Given the description of an element on the screen output the (x, y) to click on. 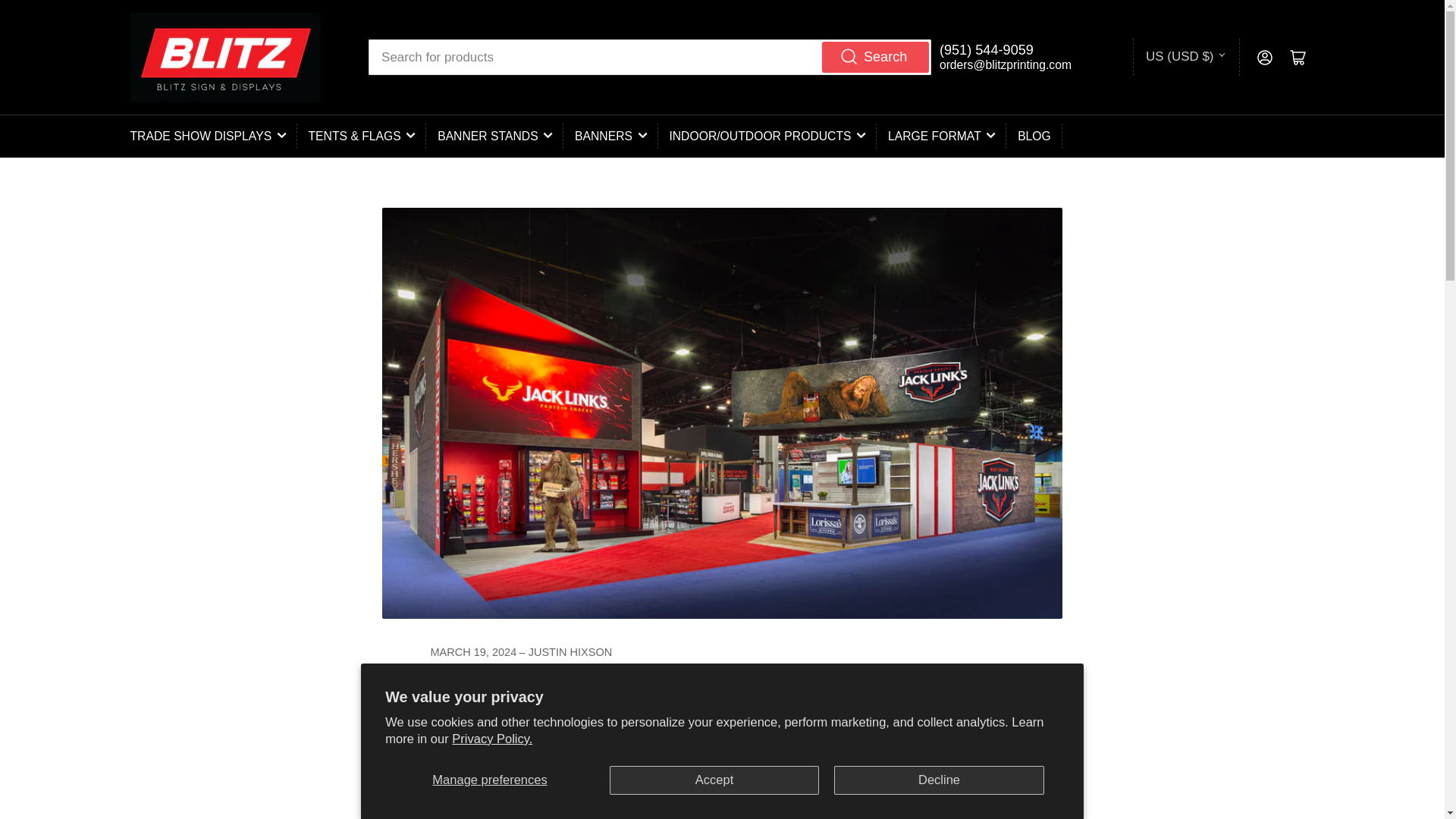
Accept (714, 779)
Open mini cart (1297, 57)
Privacy Policy. (491, 738)
Search (875, 56)
Manage preferences (489, 779)
Log in (1264, 57)
Decline (938, 779)
